Given the description of an element on the screen output the (x, y) to click on. 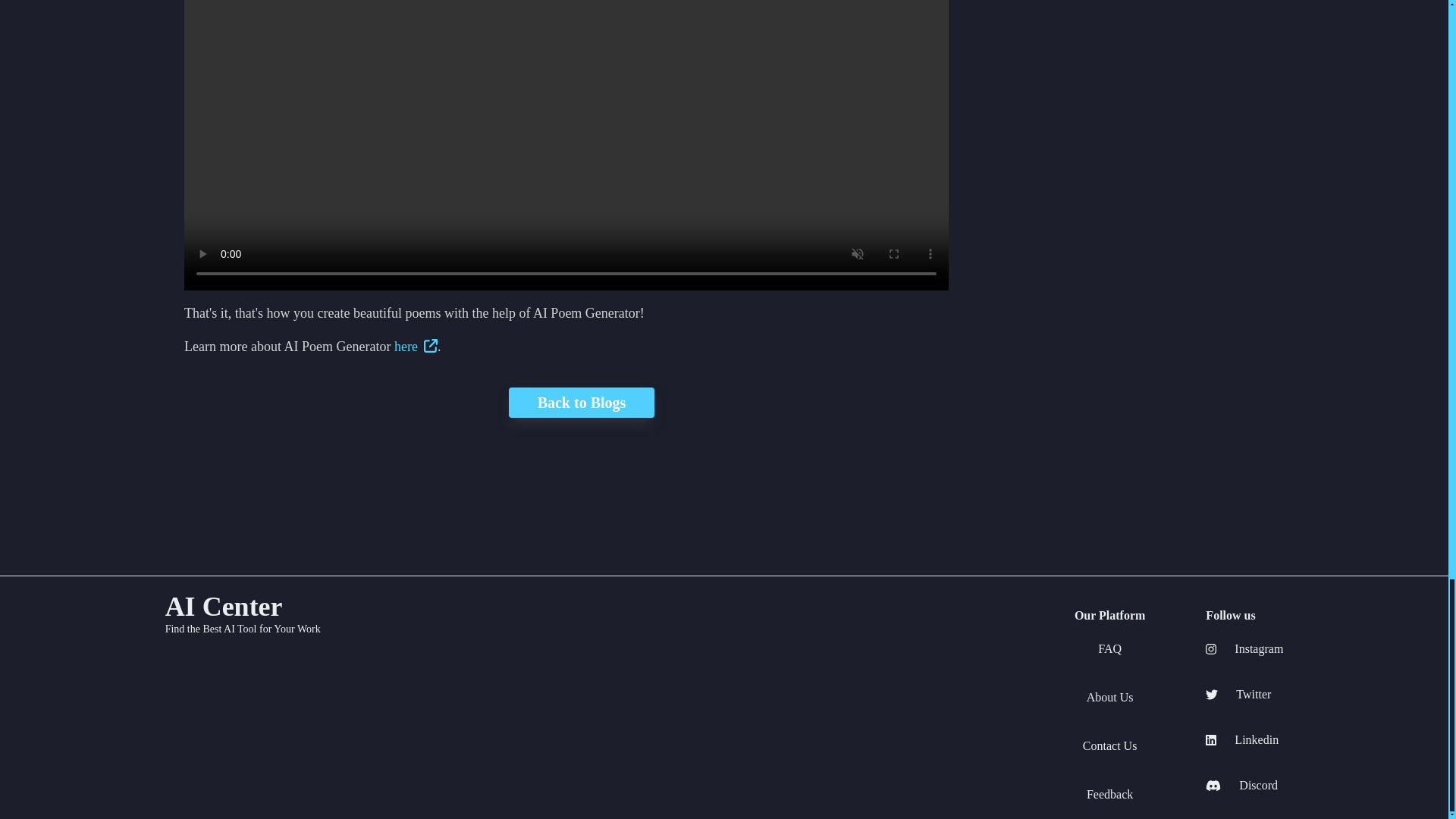
FAQ (1109, 648)
Back to Blogs (566, 402)
Back to Blogs (580, 402)
here (416, 346)
Feedback (1109, 793)
About Us (1110, 697)
